Given the description of an element on the screen output the (x, y) to click on. 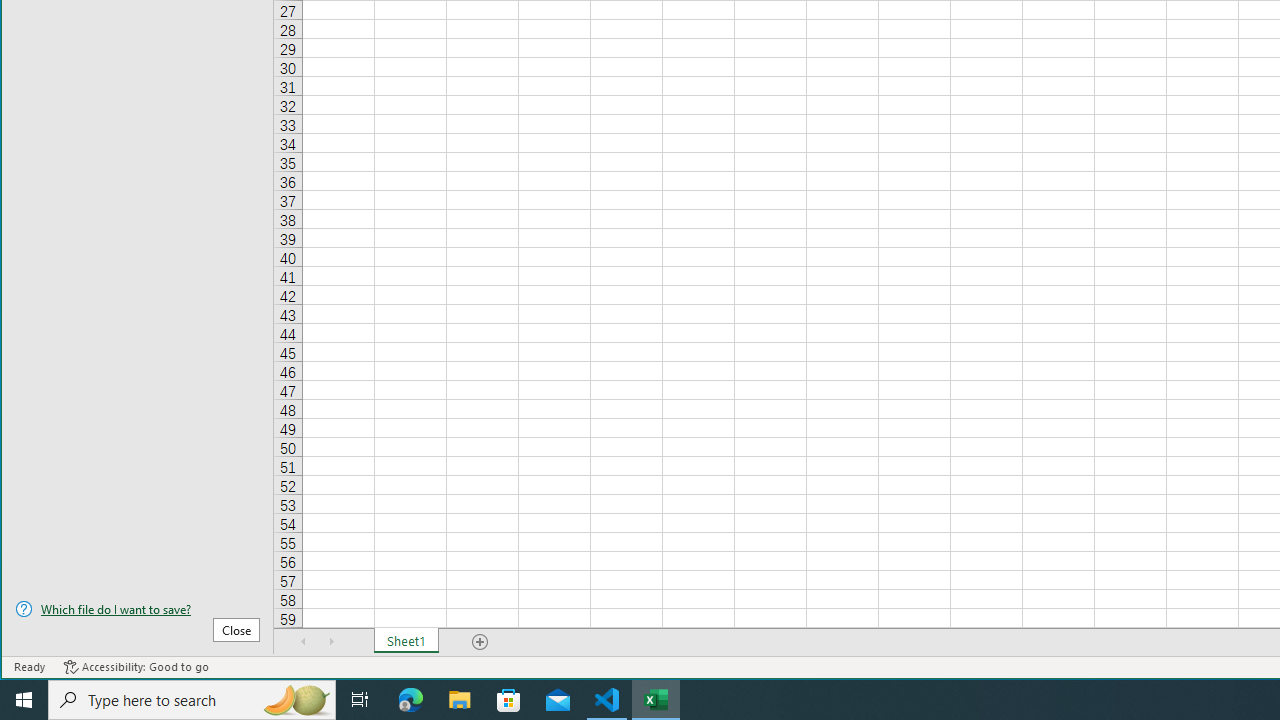
Start (24, 699)
Task View (359, 699)
File Explorer (460, 699)
Search highlights icon opens search home window (295, 699)
Excel - 1 running window (656, 699)
Microsoft Edge (411, 699)
Microsoft Store (509, 699)
